Given the description of an element on the screen output the (x, y) to click on. 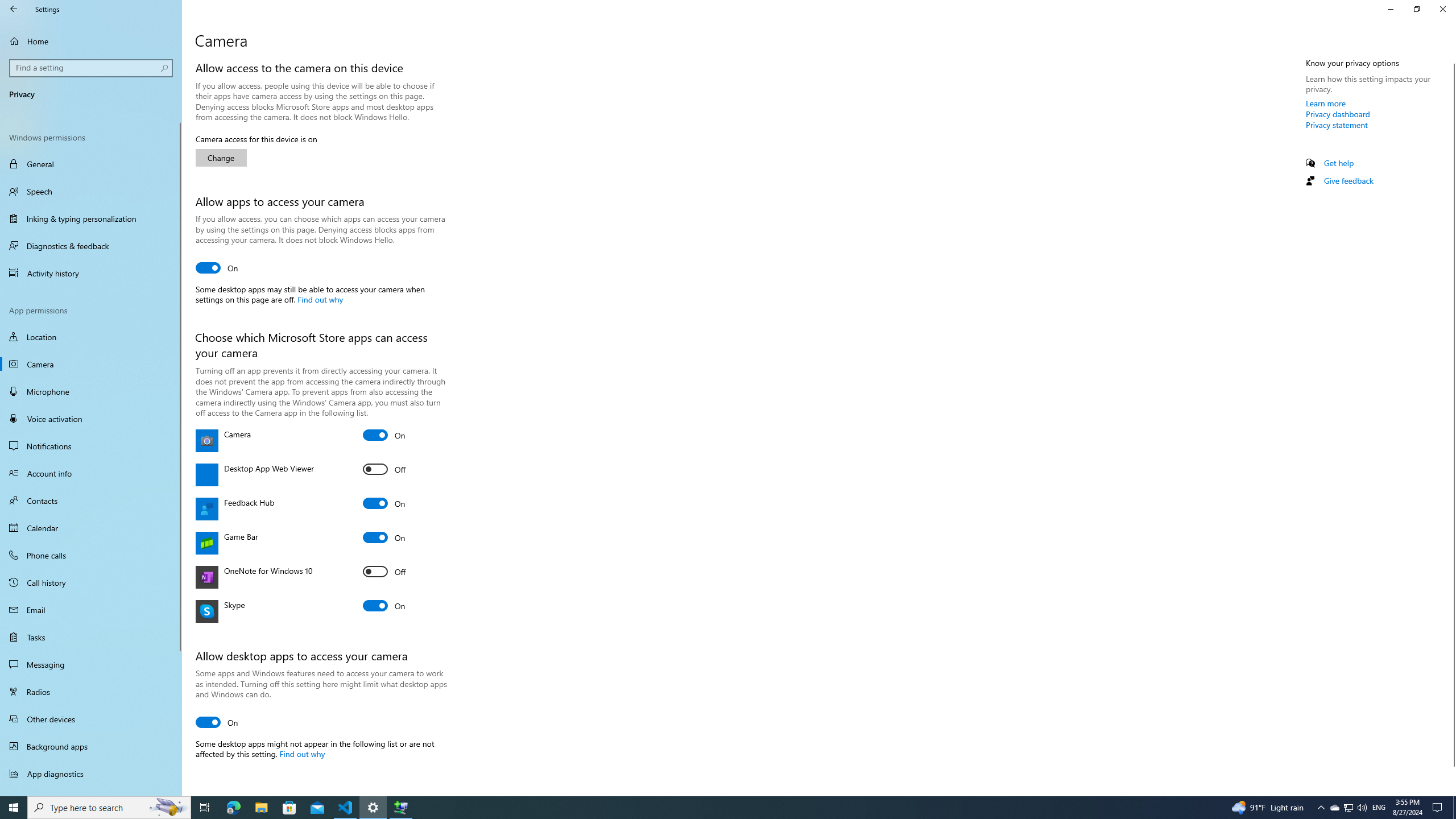
Allow apps to access your camera (216, 267)
Give feedback (1348, 180)
Learn more (1326, 102)
Camera (384, 434)
Email (91, 609)
Call history (91, 582)
Background apps (91, 746)
Feedback Hub (384, 502)
